Given the description of an element on the screen output the (x, y) to click on. 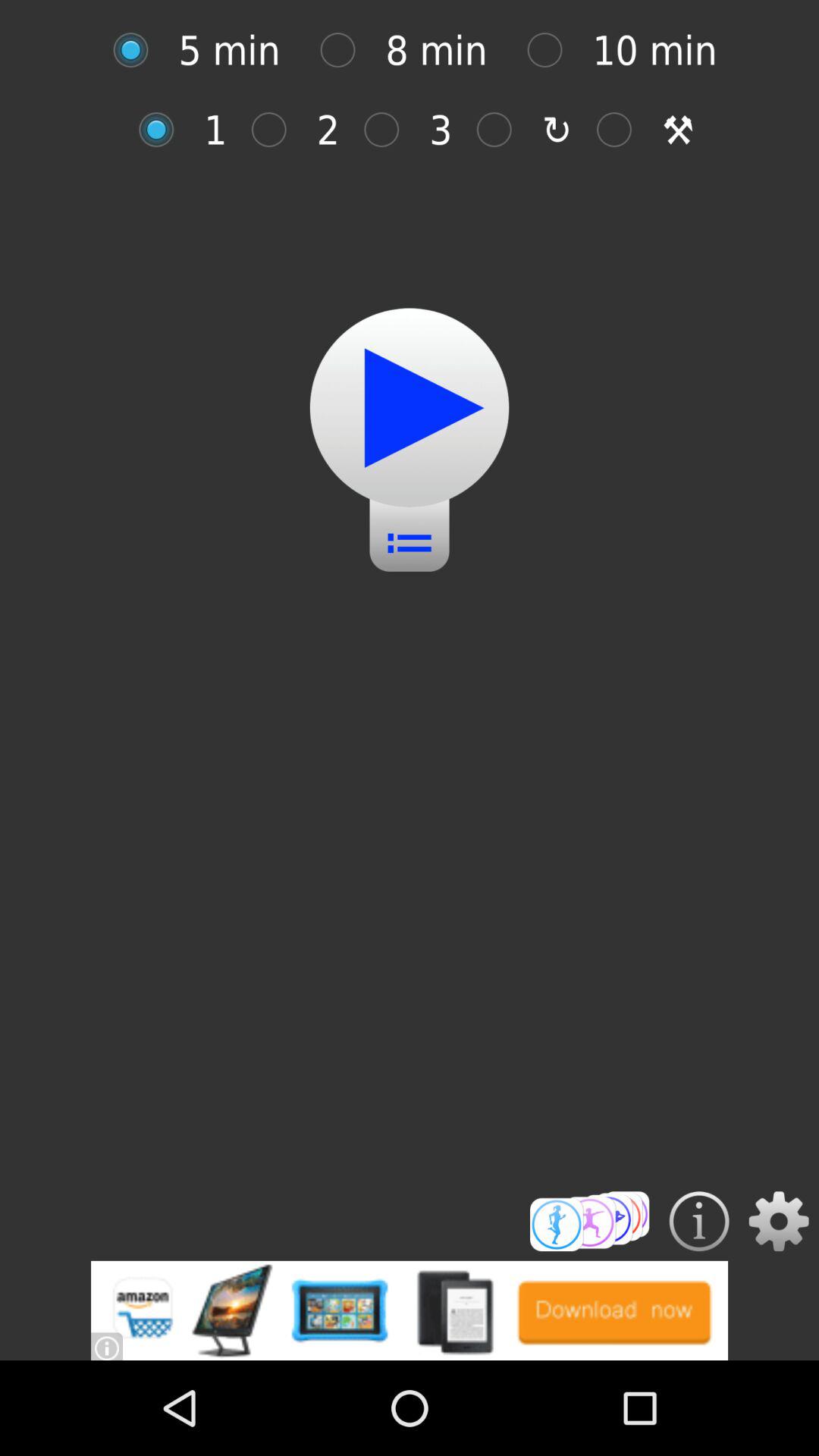
play selection (409, 407)
